Given the description of an element on the screen output the (x, y) to click on. 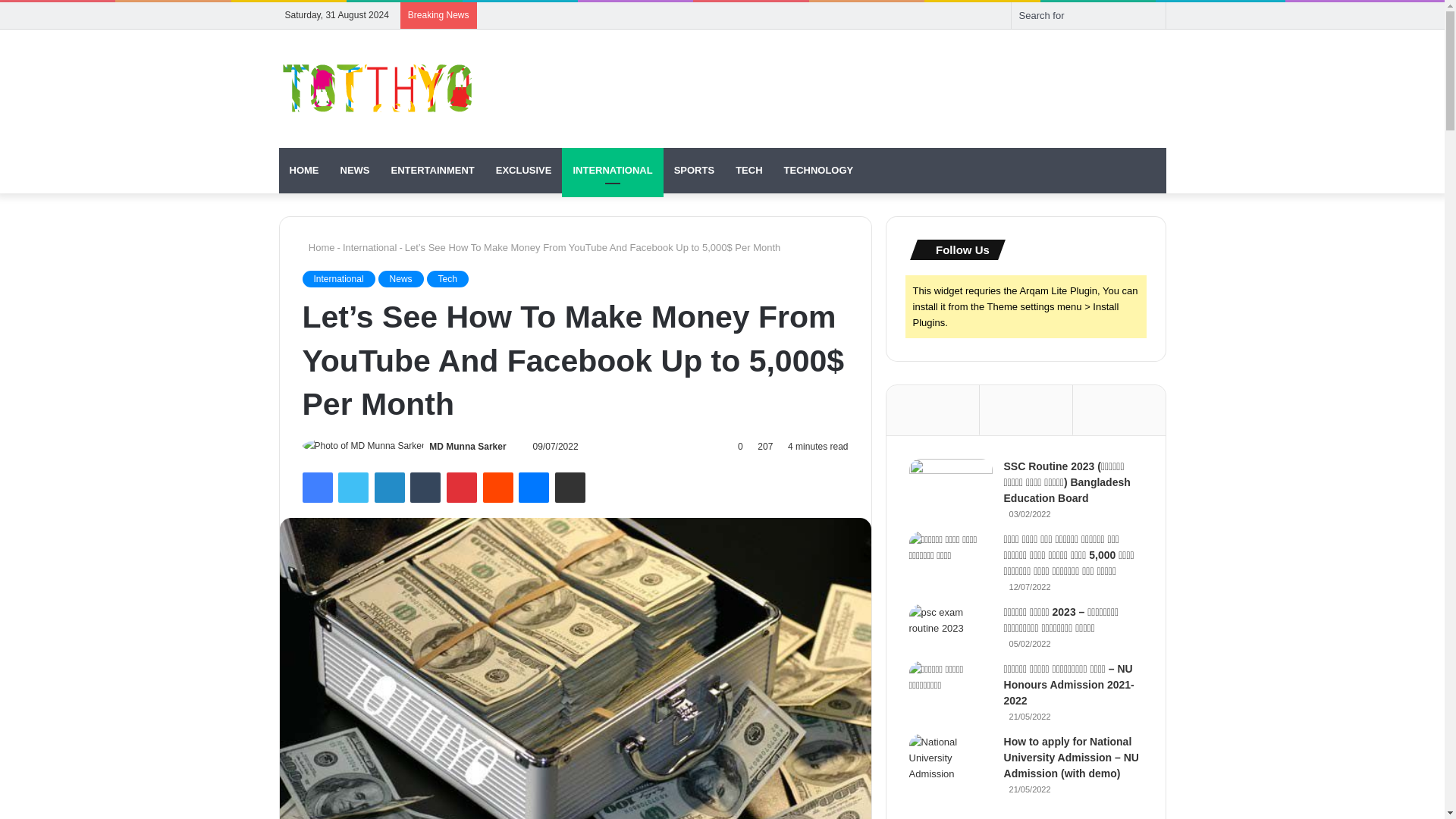
TECHNOLOGY (818, 170)
Search for (1149, 15)
LinkedIn (389, 487)
Share via Email (569, 487)
Totthyo (377, 88)
ENTERTAINMENT (432, 170)
INTERNATIONAL (612, 170)
International (369, 247)
News (400, 279)
Home (317, 247)
